Given the description of an element on the screen output the (x, y) to click on. 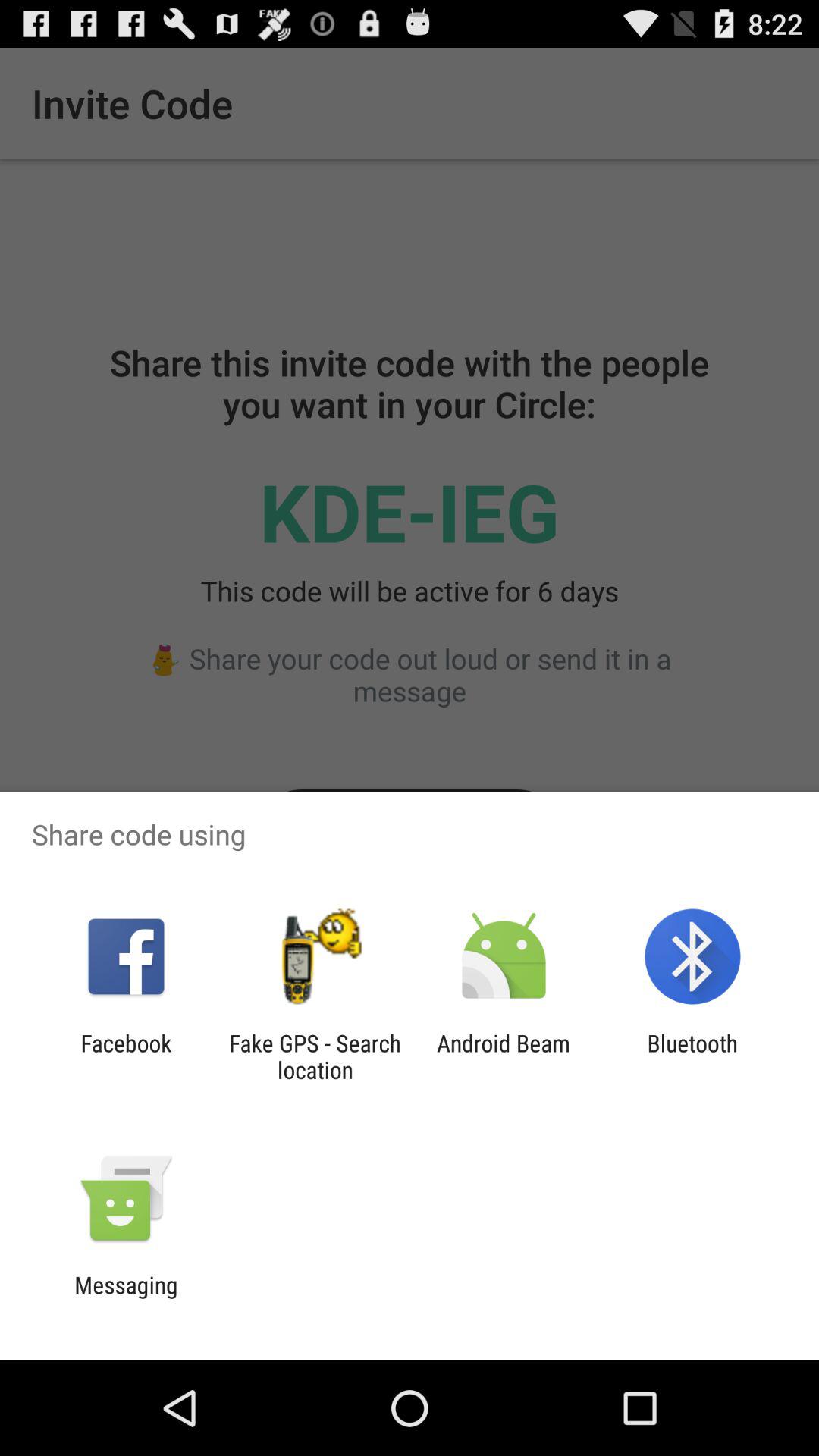
jump until messaging item (126, 1298)
